Given the description of an element on the screen output the (x, y) to click on. 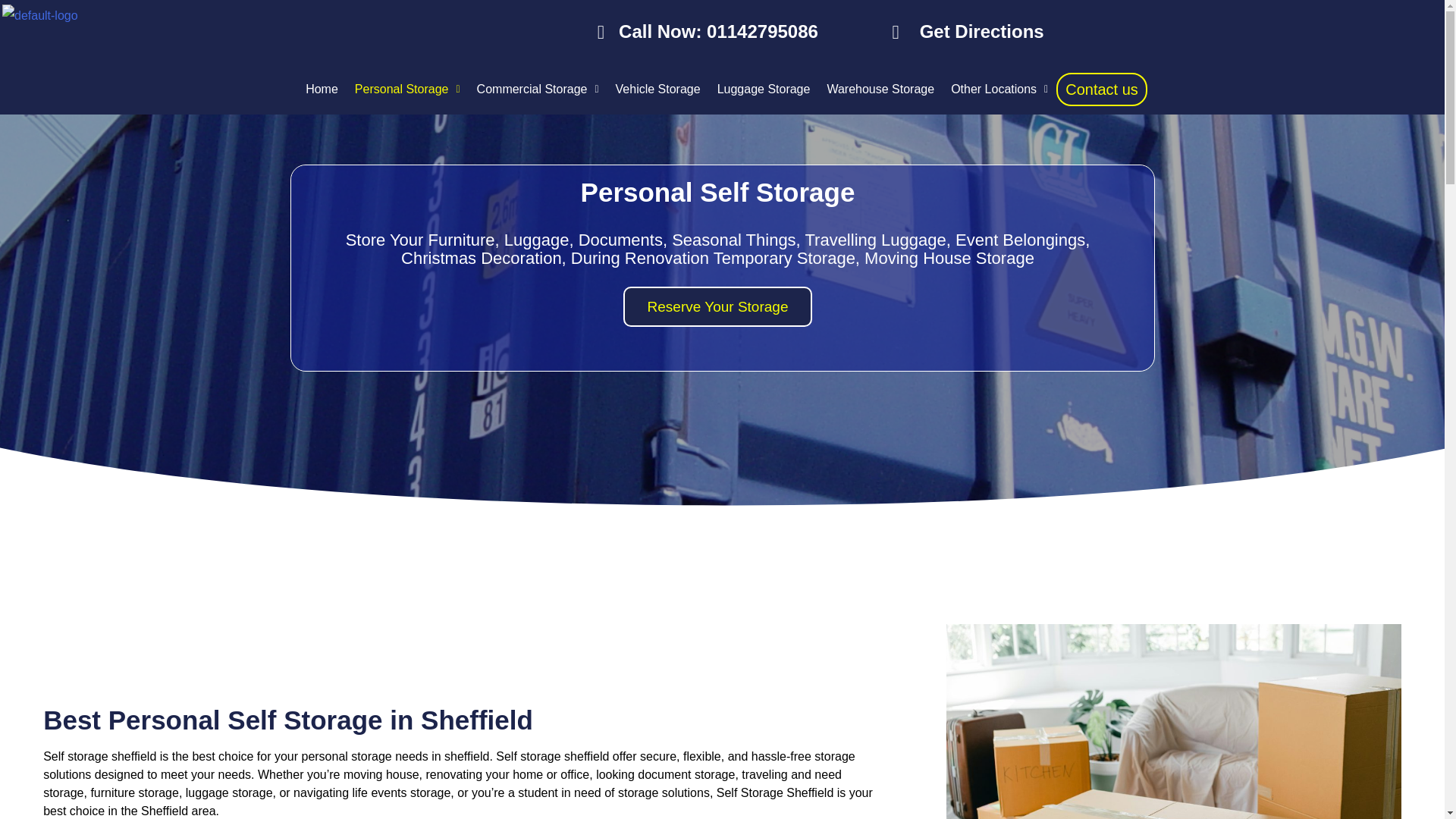
Home (321, 89)
Personal Storage (407, 89)
Contact us (1102, 89)
storage needs in sheffield (419, 756)
Reserve Your Storage (717, 306)
Get Directions (1024, 32)
Call Now: 01142795086 (703, 32)
Self storage sheffield (99, 756)
Commercial Storage (537, 89)
Other Locations (999, 89)
Vehicle Storage (658, 89)
best choice in the Sheffield (115, 810)
Warehouse Storage (880, 89)
Luggage Storage (763, 89)
